Given the description of an element on the screen output the (x, y) to click on. 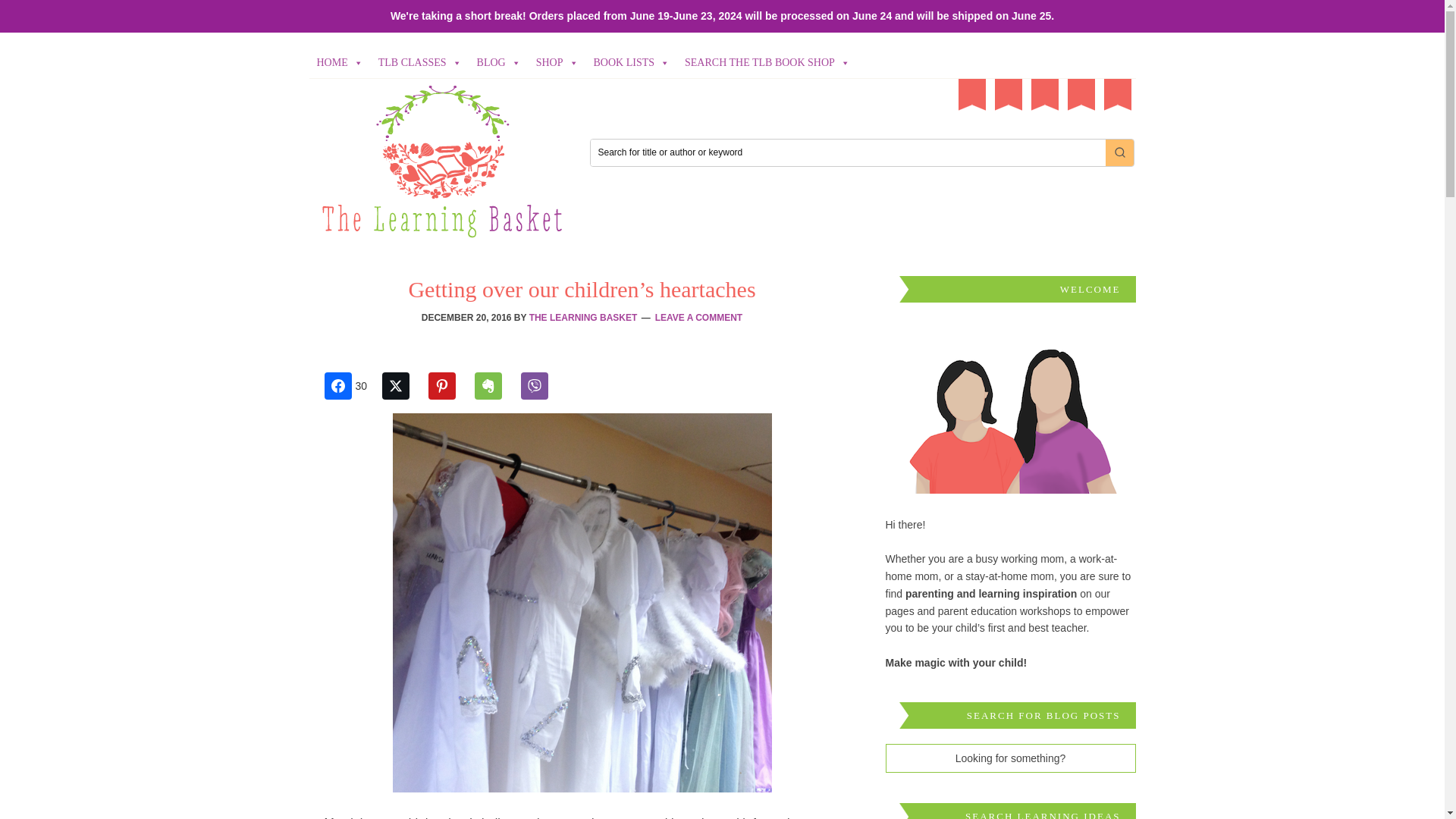
BOOK LISTS (632, 62)
BLOG (498, 62)
TLB CLASSES (419, 62)
Share on Evernote (495, 385)
SHOP (557, 62)
Share on Facebook (351, 385)
Search for title or author or keyword (847, 152)
Share on Viber (542, 385)
Search for title or author or keyword (847, 152)
SEARCH THE TLB BOOK SHOP (767, 62)
HOME (339, 62)
Share on Pinterest (449, 385)
Share on Twitter (403, 385)
